Given the description of an element on the screen output the (x, y) to click on. 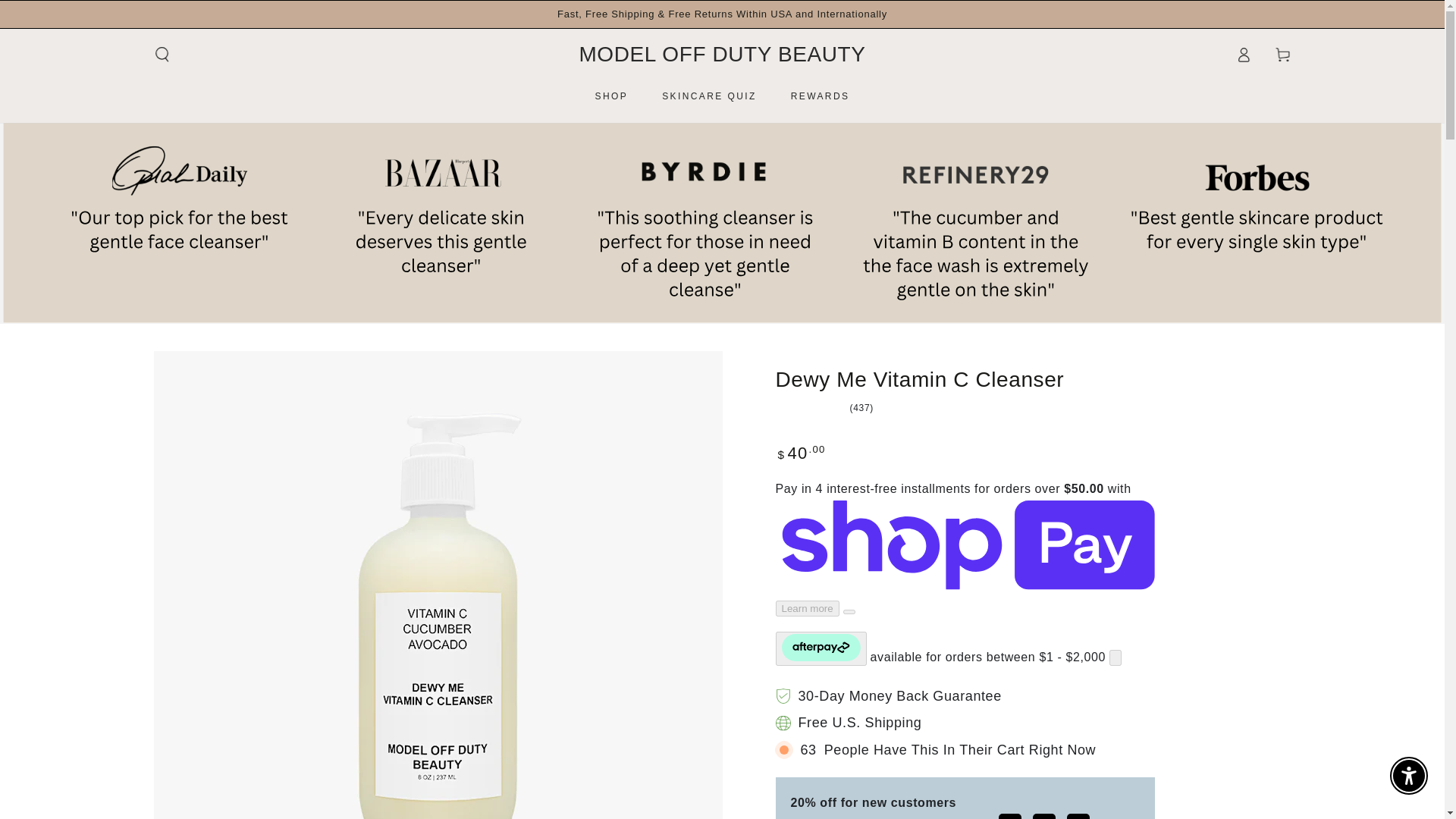
SKIP TO CONTENT (67, 14)
